Given the description of an element on the screen output the (x, y) to click on. 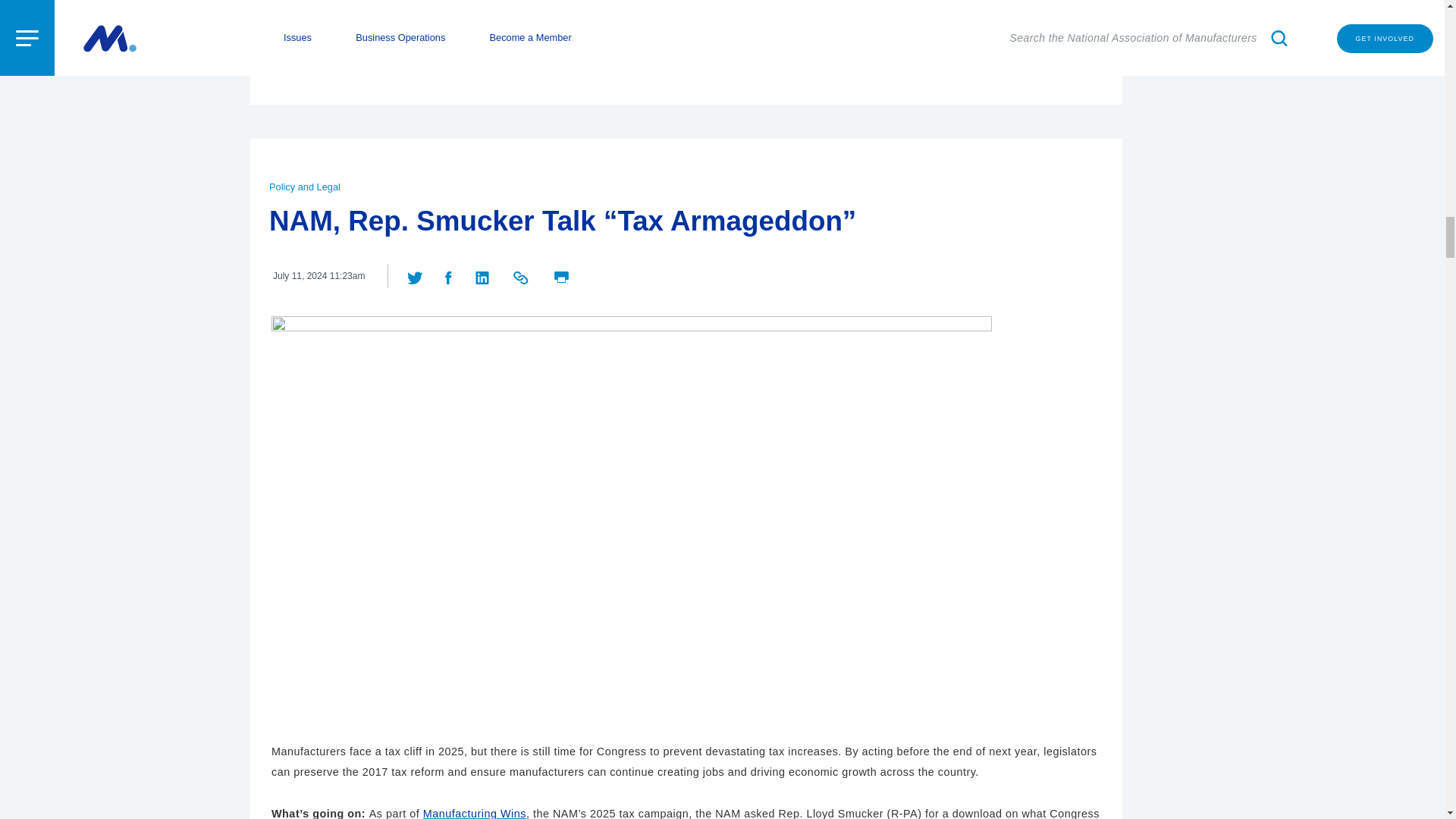
Thursday, July 11th at 11:23am (319, 276)
